Given the description of an element on the screen output the (x, y) to click on. 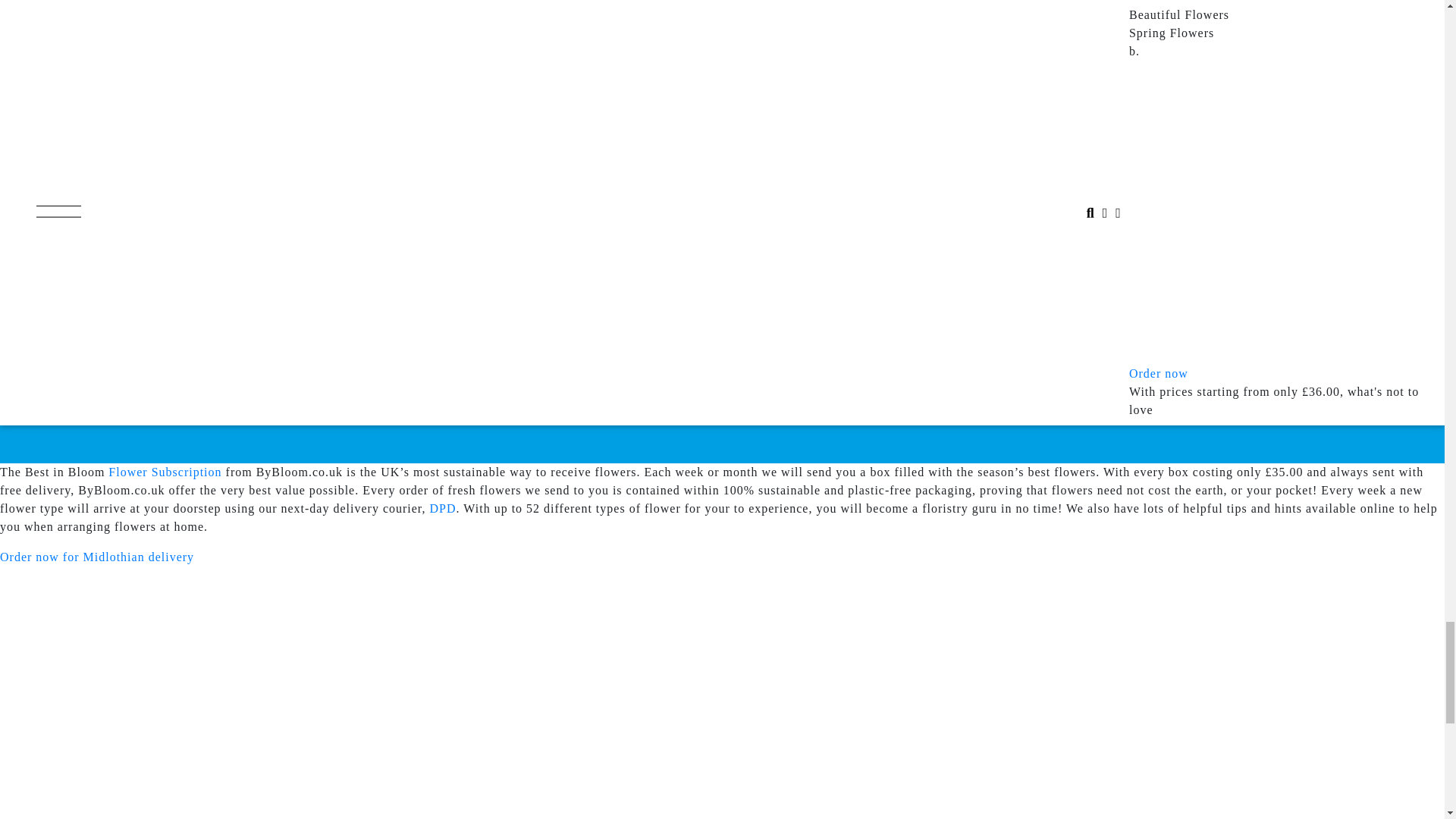
sustainability mission (362, 93)
create-your-own bouquet (238, 178)
Larry Walshe (280, 57)
